Given the description of an element on the screen output the (x, y) to click on. 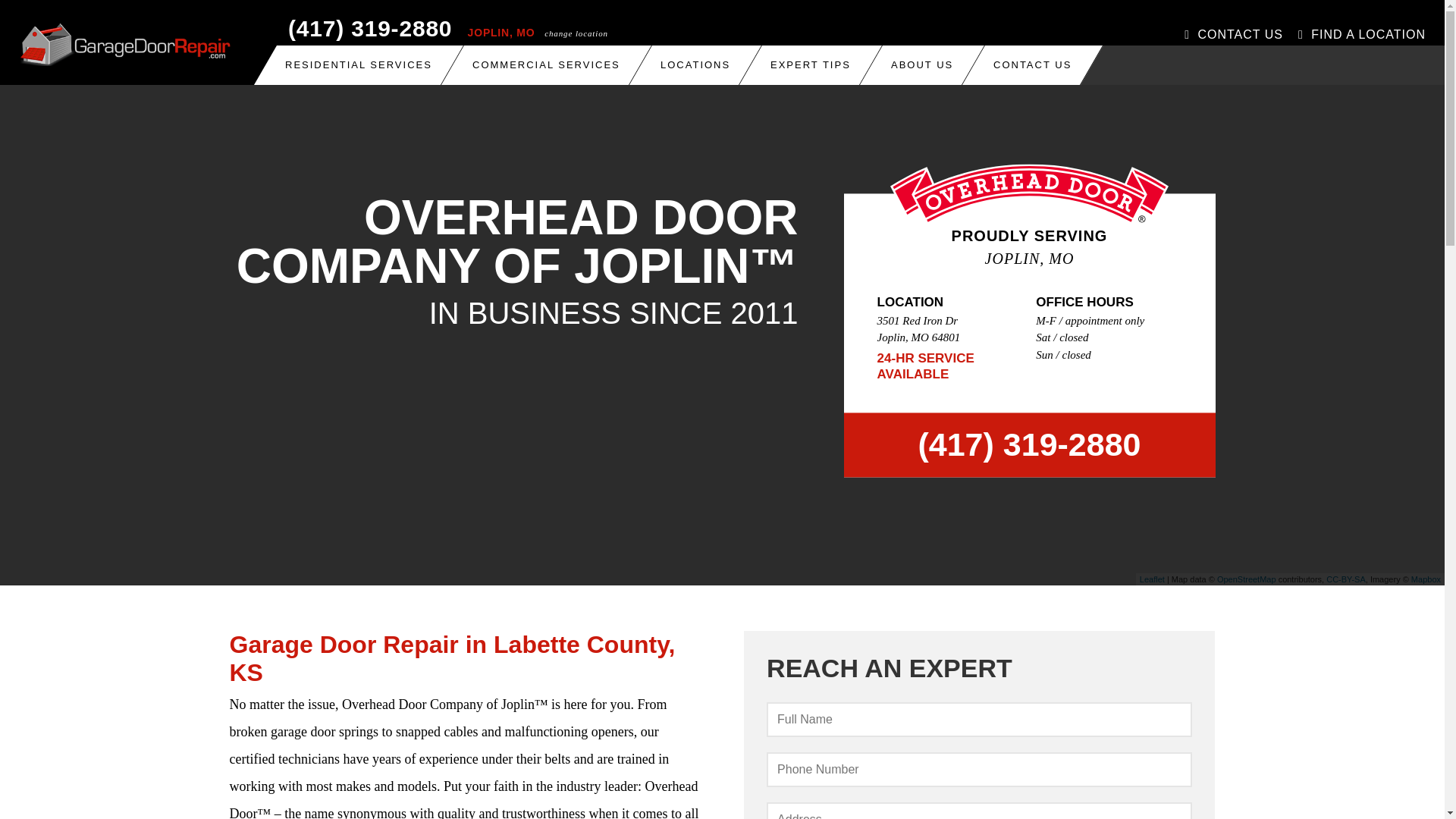
EXPERT TIPS (810, 65)
COMMERCIAL SERVICES (545, 65)
FIND A LOCATION (1361, 34)
ABOUT US (922, 65)
LOCATIONS (695, 65)
RESIDENTIAL SERVICES (358, 65)
CONTACT US (1031, 65)
Mapbox (1425, 578)
OpenStreetMap (1246, 578)
change location (576, 32)
CONTACT US (1233, 34)
CC-BY-SA (1345, 578)
Leaflet (1152, 578)
A JS library for interactive maps (1152, 578)
